Given the description of an element on the screen output the (x, y) to click on. 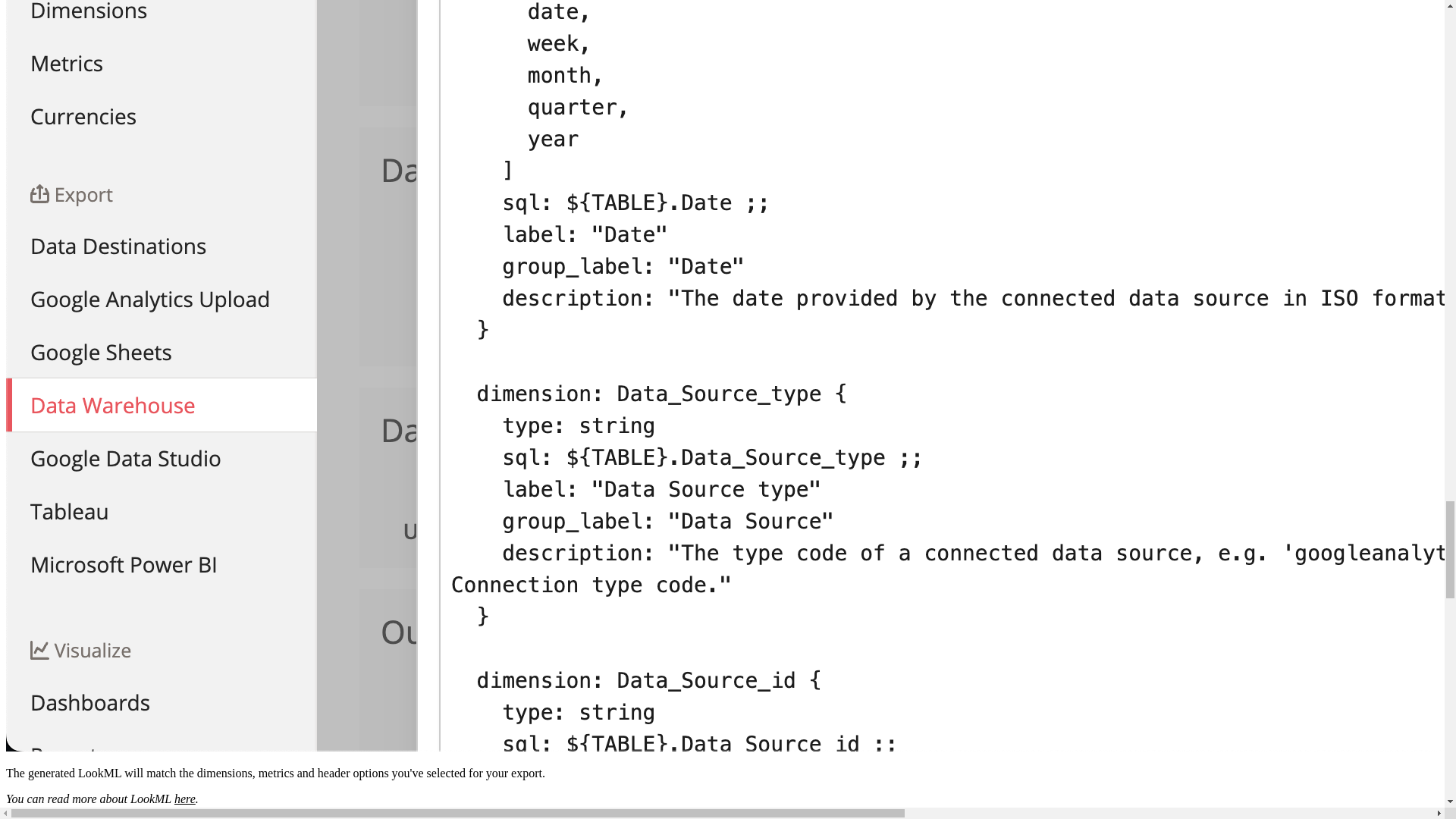
here (184, 798)
